Given the description of an element on the screen output the (x, y) to click on. 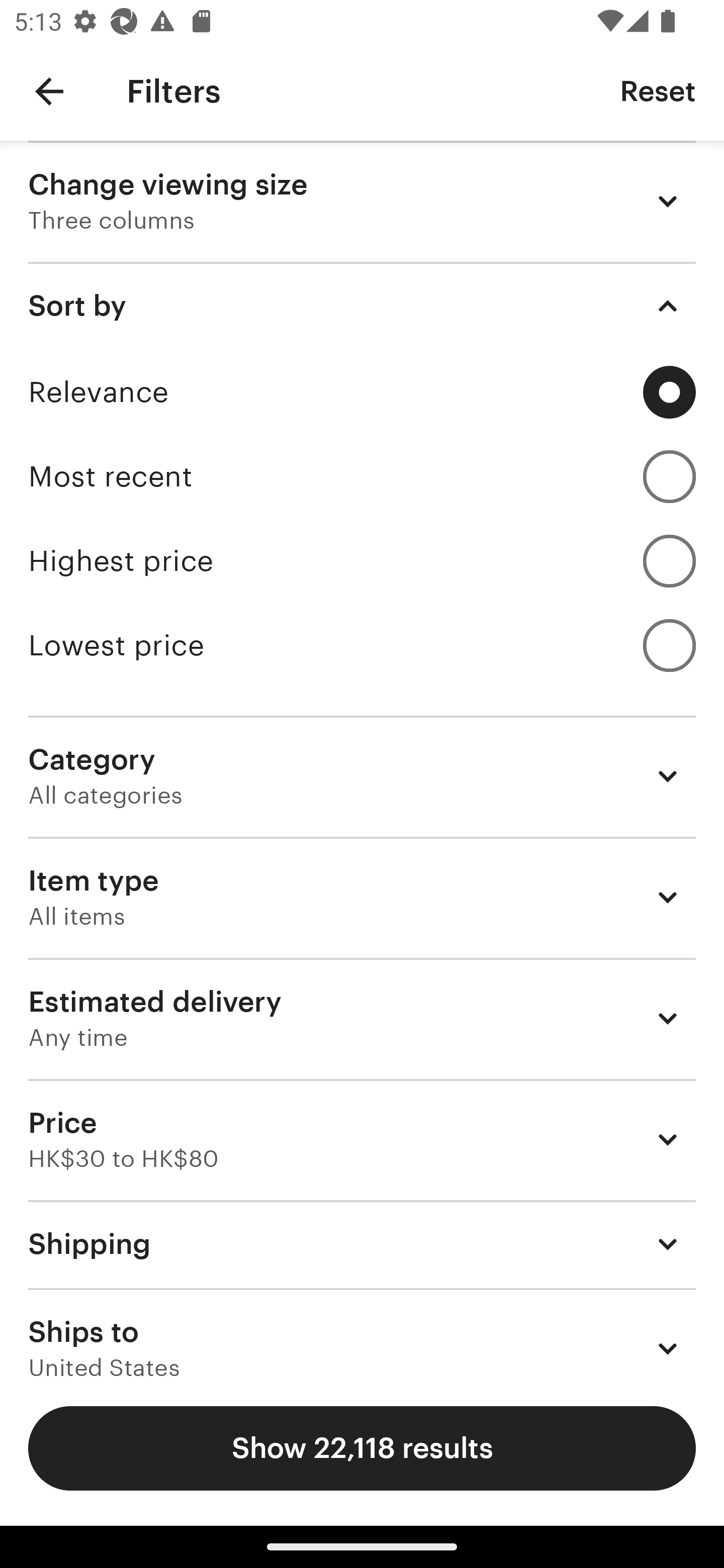
Navigate up (49, 91)
Reset (657, 90)
Change viewing size Three columns (362, 201)
Sort by (362, 305)
Relevance (362, 391)
Most recent (362, 476)
Highest price (362, 561)
Lowest price (362, 644)
Category All categories (362, 776)
Item type All items (362, 897)
Estimated delivery Any time (362, 1018)
Price HK$30 to HK$80 (362, 1138)
Shipping (362, 1243)
Ships to United States (362, 1332)
Show 22,118 results Show results (361, 1448)
